Given the description of an element on the screen output the (x, y) to click on. 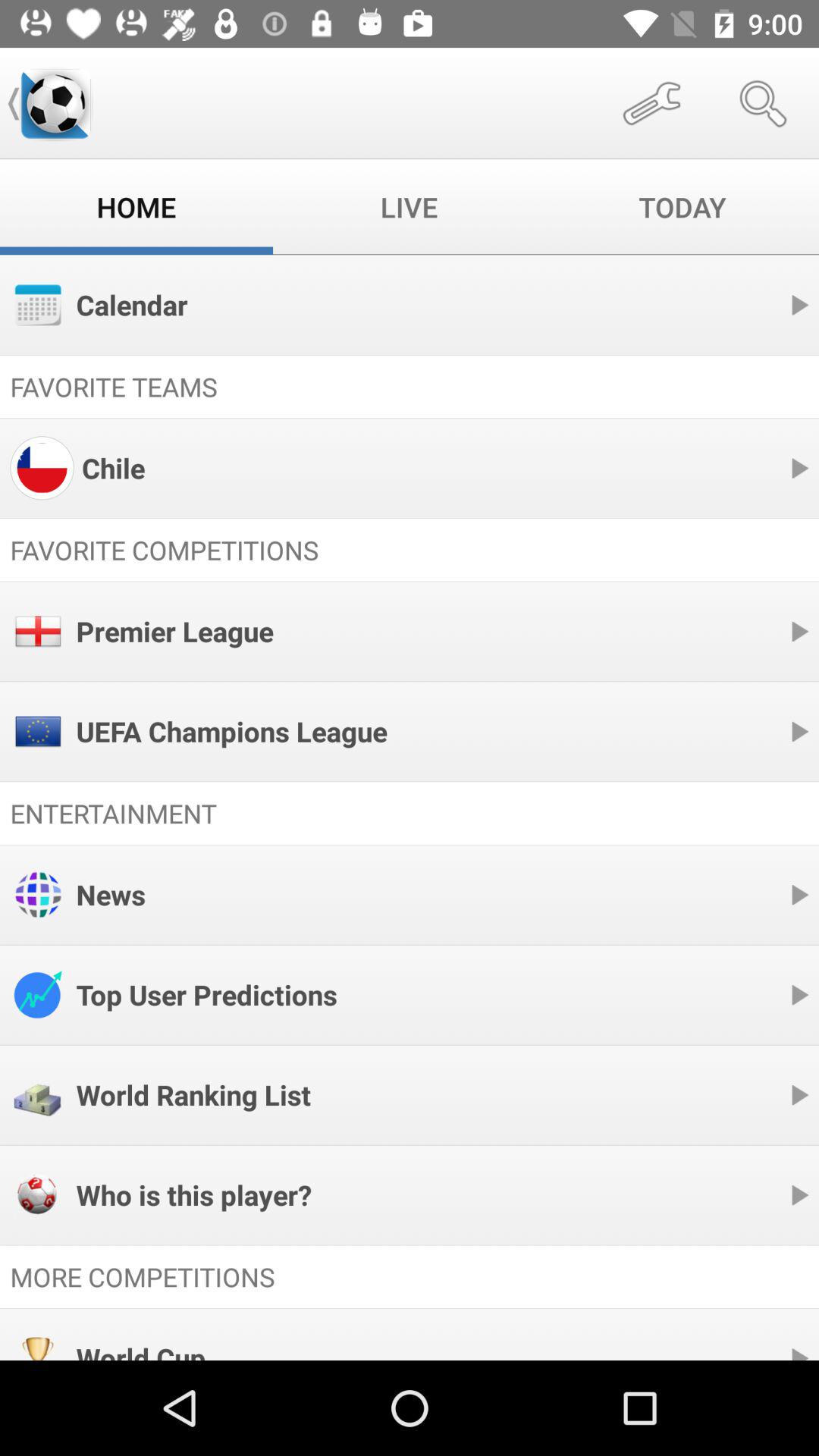
turn off item above today item (763, 103)
